Given the description of an element on the screen output the (x, y) to click on. 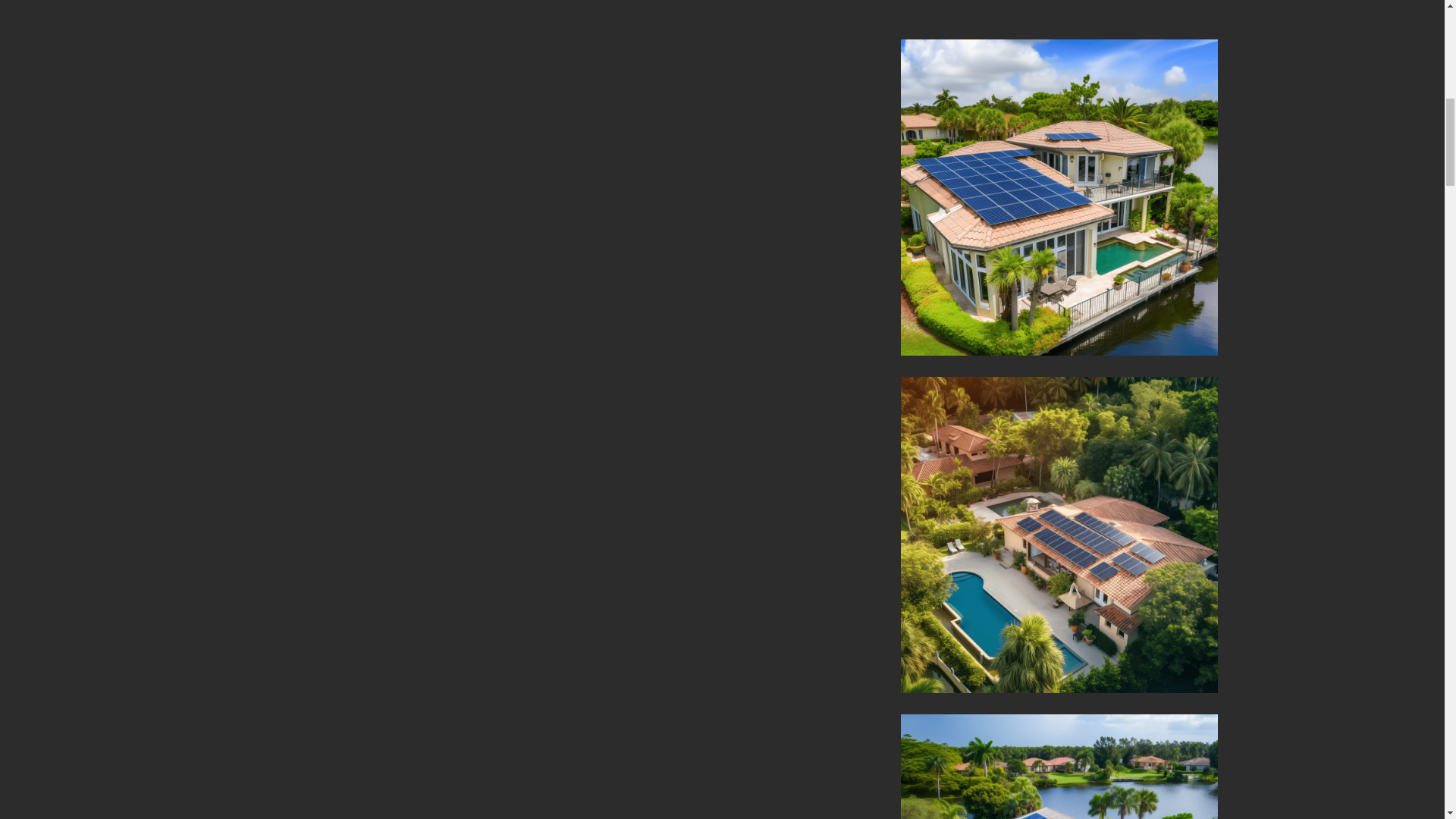
Energy Efficient Upgrades 3 (1059, 766)
Energy Efficient Upgrades 1 (1059, 197)
Energy Efficient Upgrades 2 (1059, 534)
